Given the description of an element on the screen output the (x, y) to click on. 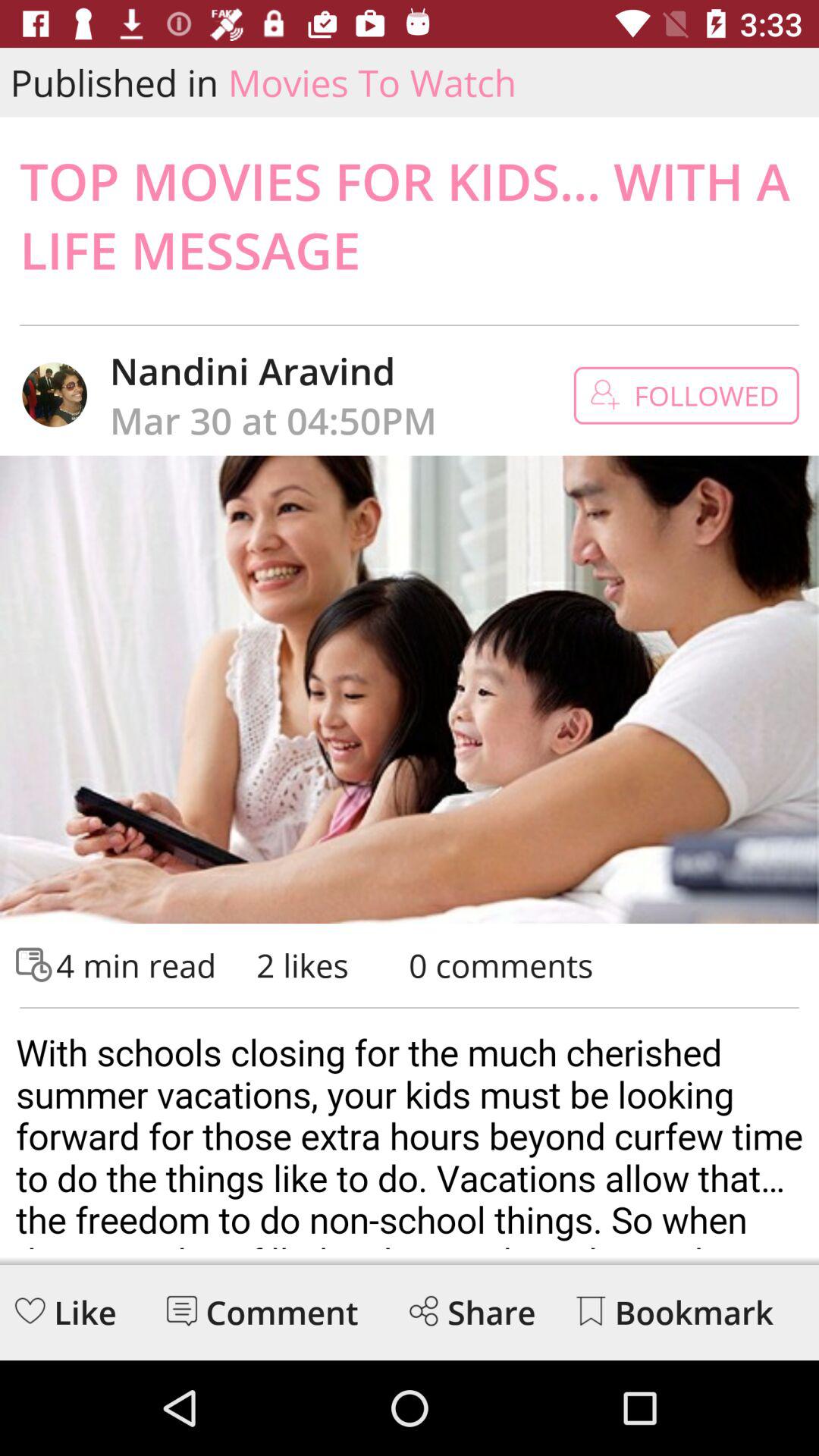
tap to like (30, 1310)
